Given the description of an element on the screen output the (x, y) to click on. 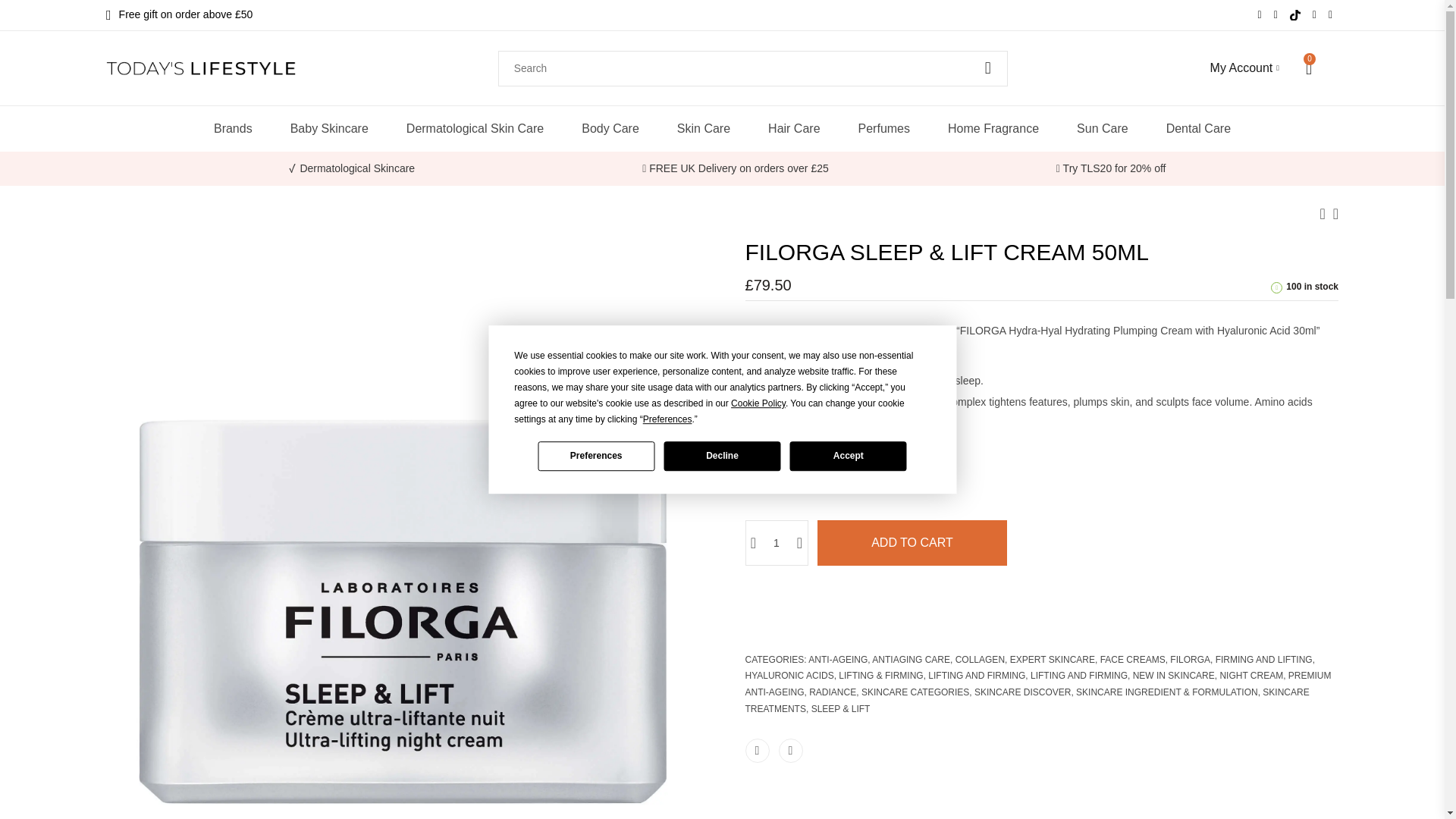
Share this post on Facebook (756, 750)
Accept (848, 455)
Preferences (595, 455)
Baby Skincare (328, 128)
Share this post on Pinterest (789, 750)
Brands (232, 128)
PayPal (1041, 630)
Decline (721, 455)
